Given the description of an element on the screen output the (x, y) to click on. 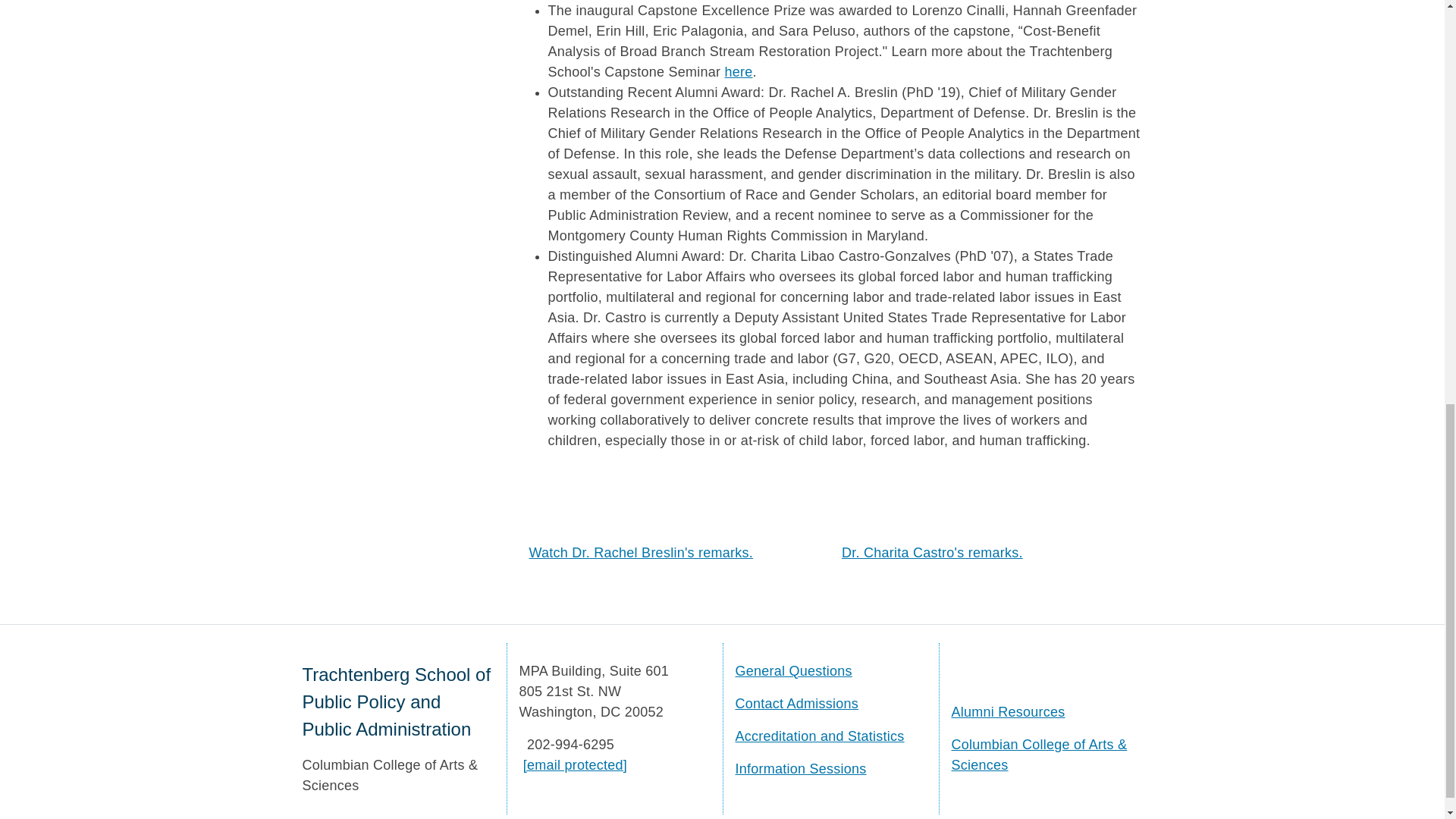
Contact Us (793, 670)
Trachtenberg In-Person, Online, and On the Road (800, 768)
